Given the description of an element on the screen output the (x, y) to click on. 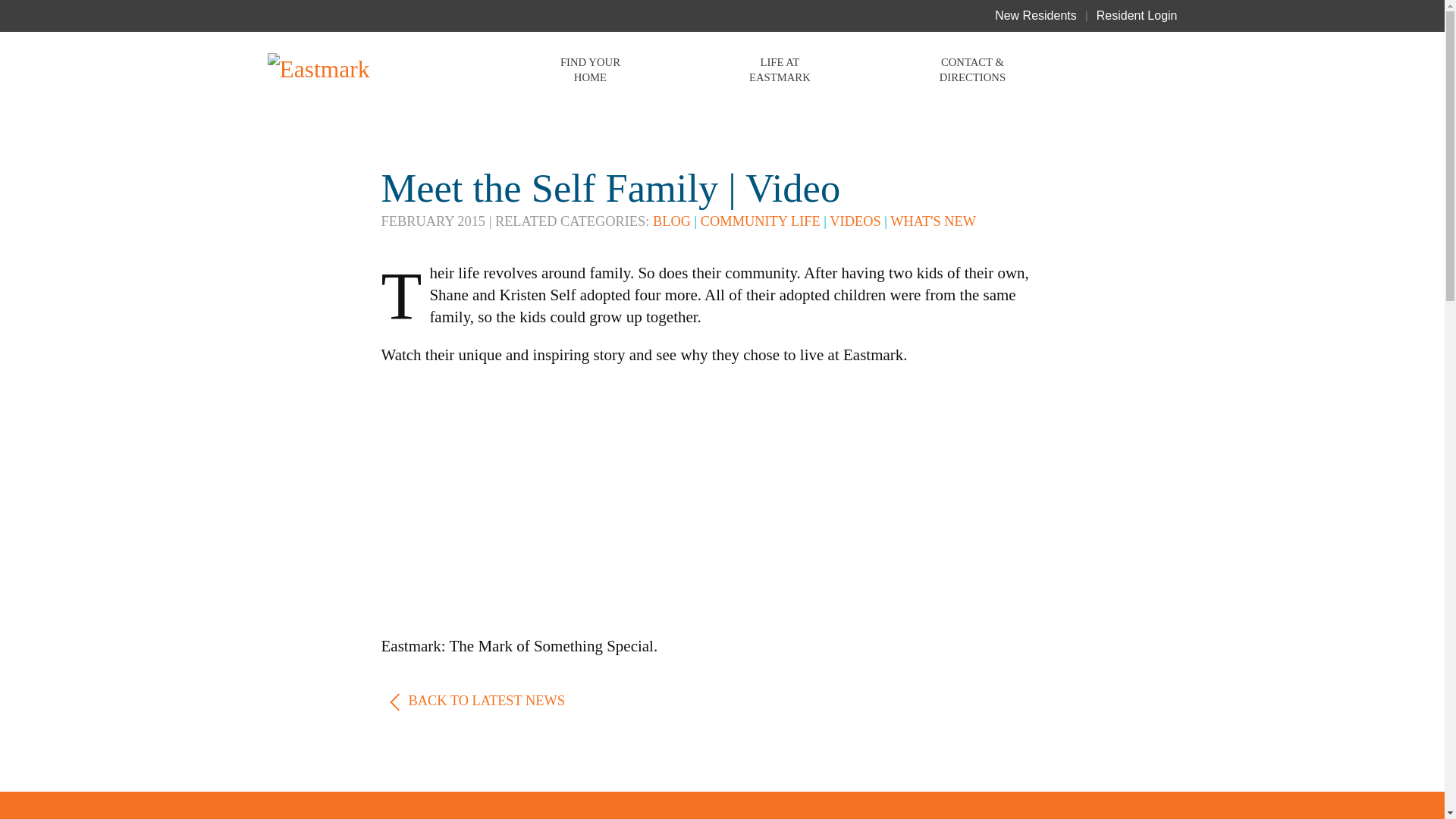
WHAT'S NEW (932, 221)
COMMUNITY LIFE (760, 221)
VIDEOS (854, 221)
BACK TO LATEST NEWS (472, 700)
Resident Login (1136, 15)
BLOG (671, 221)
New Residents (1035, 15)
